Given the description of an element on the screen output the (x, y) to click on. 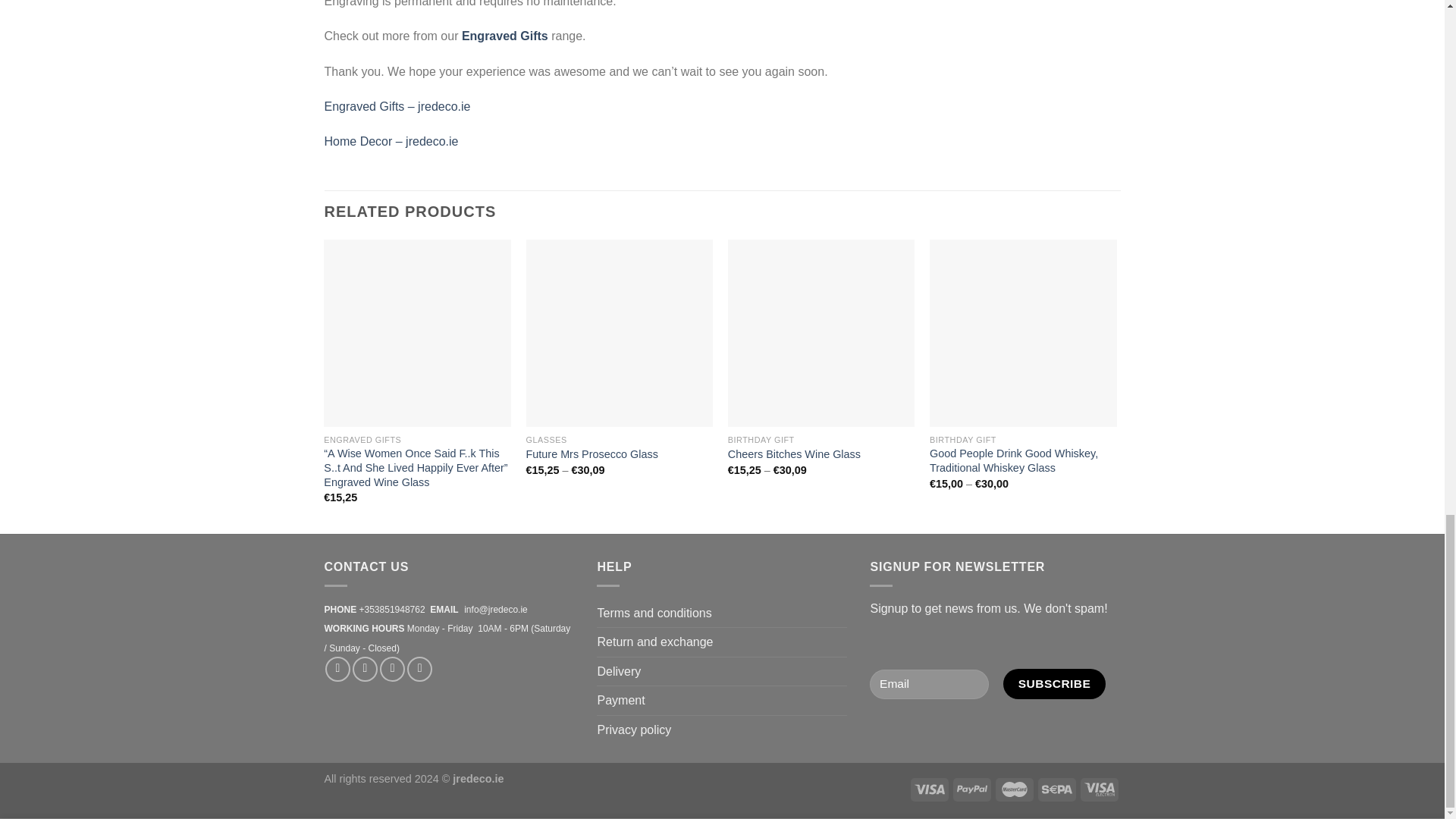
Subscribe (1054, 683)
